Given the description of an element on the screen output the (x, y) to click on. 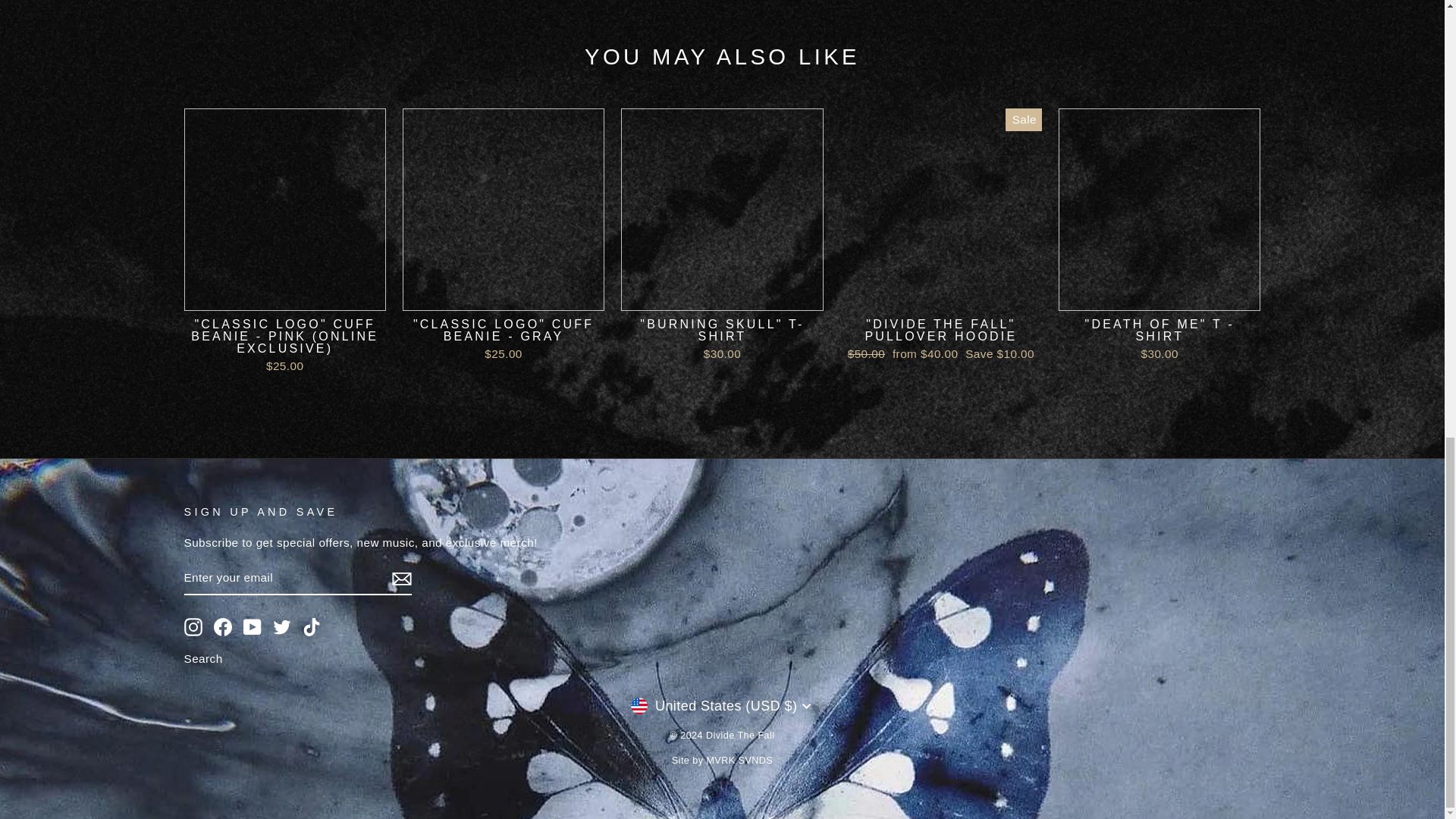
Divide The Fall on Twitter (282, 627)
Divide The Fall on TikTok (310, 627)
Divide The Fall on YouTube (251, 627)
Divide The Fall on Facebook (222, 627)
Divide The Fall on Instagram (192, 627)
